Given the description of an element on the screen output the (x, y) to click on. 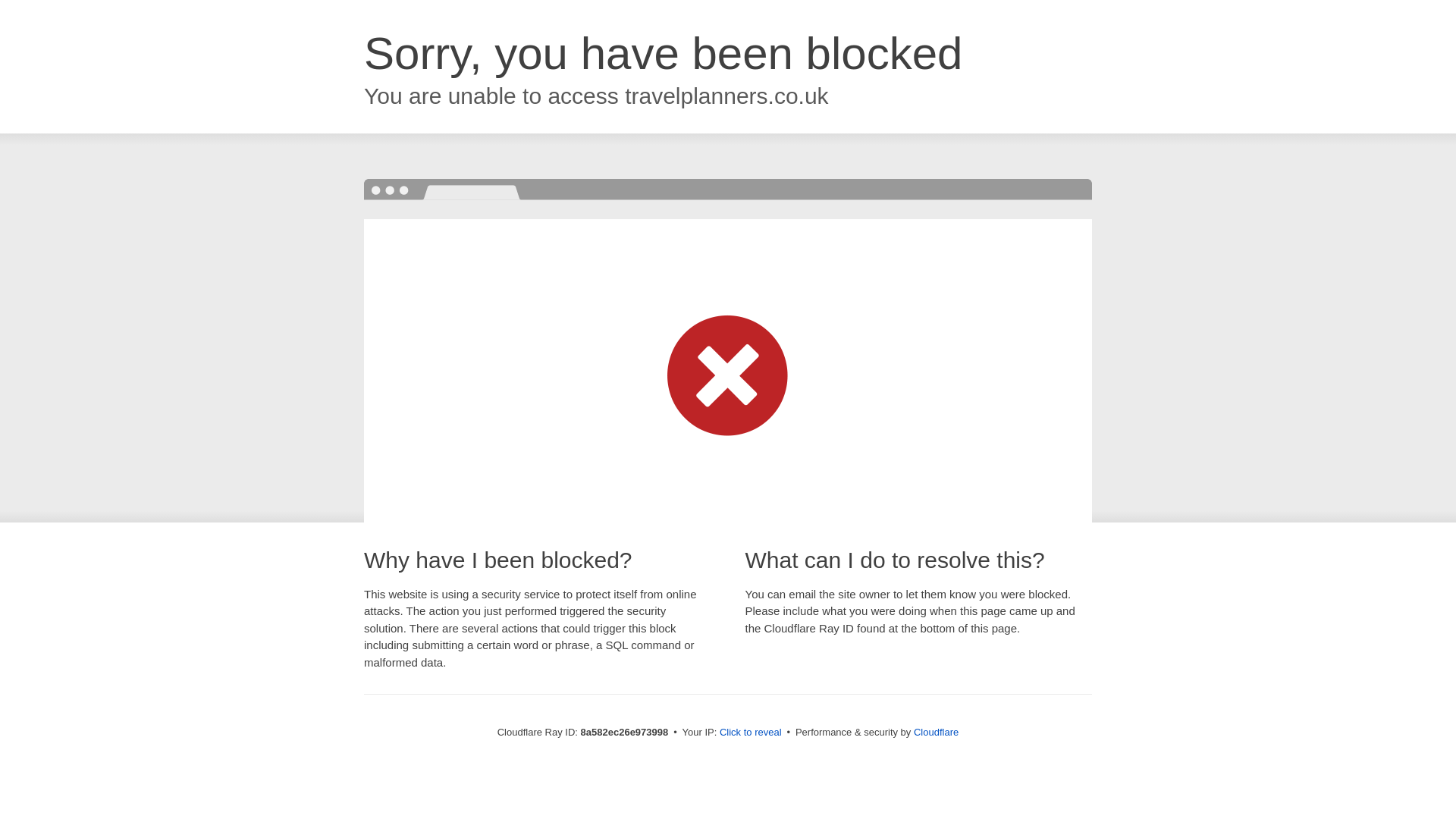
Click to reveal (750, 732)
Cloudflare (936, 731)
